Given the description of an element on the screen output the (x, y) to click on. 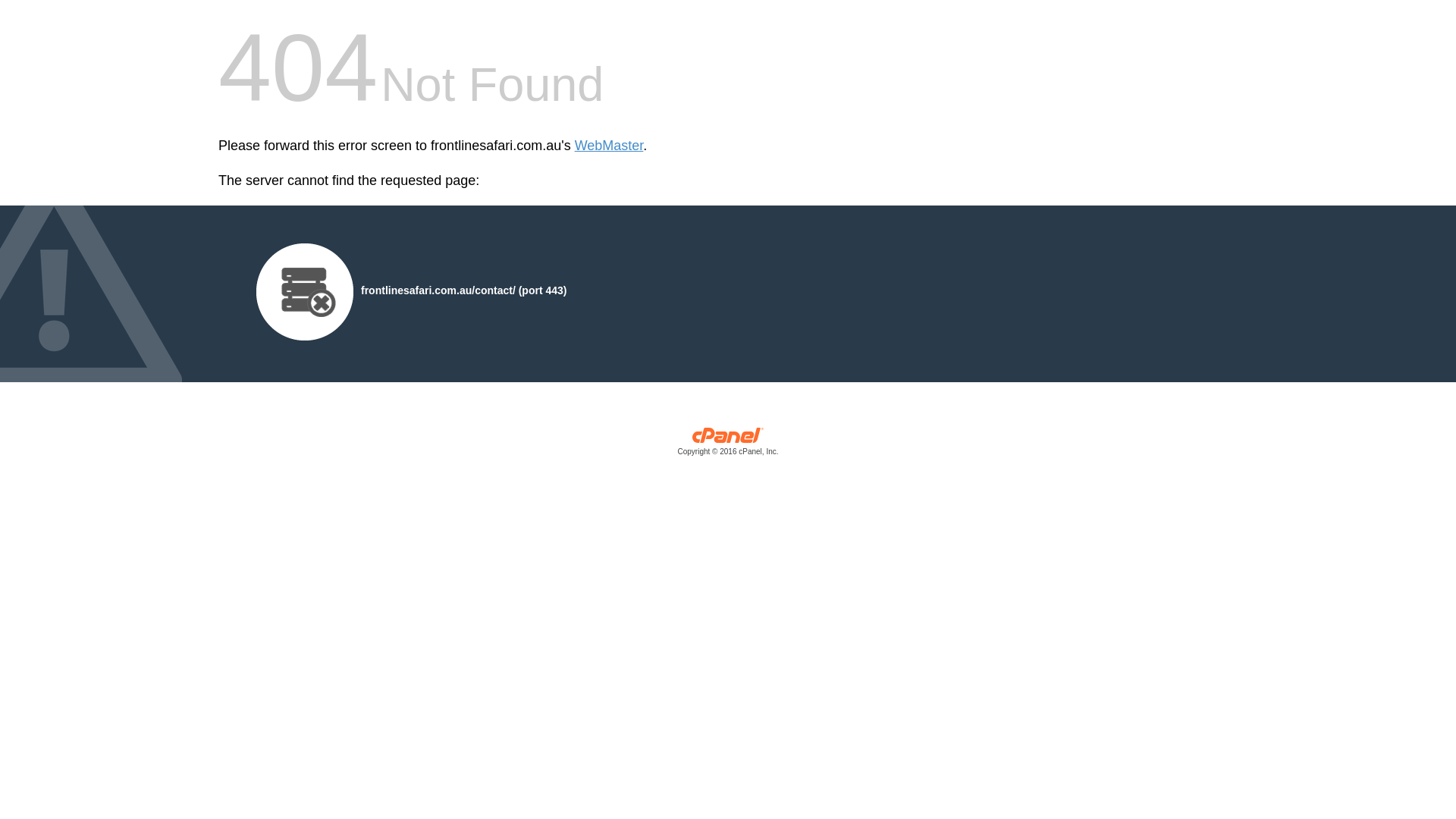
WebMaster Element type: text (608, 145)
